Given the description of an element on the screen output the (x, y) to click on. 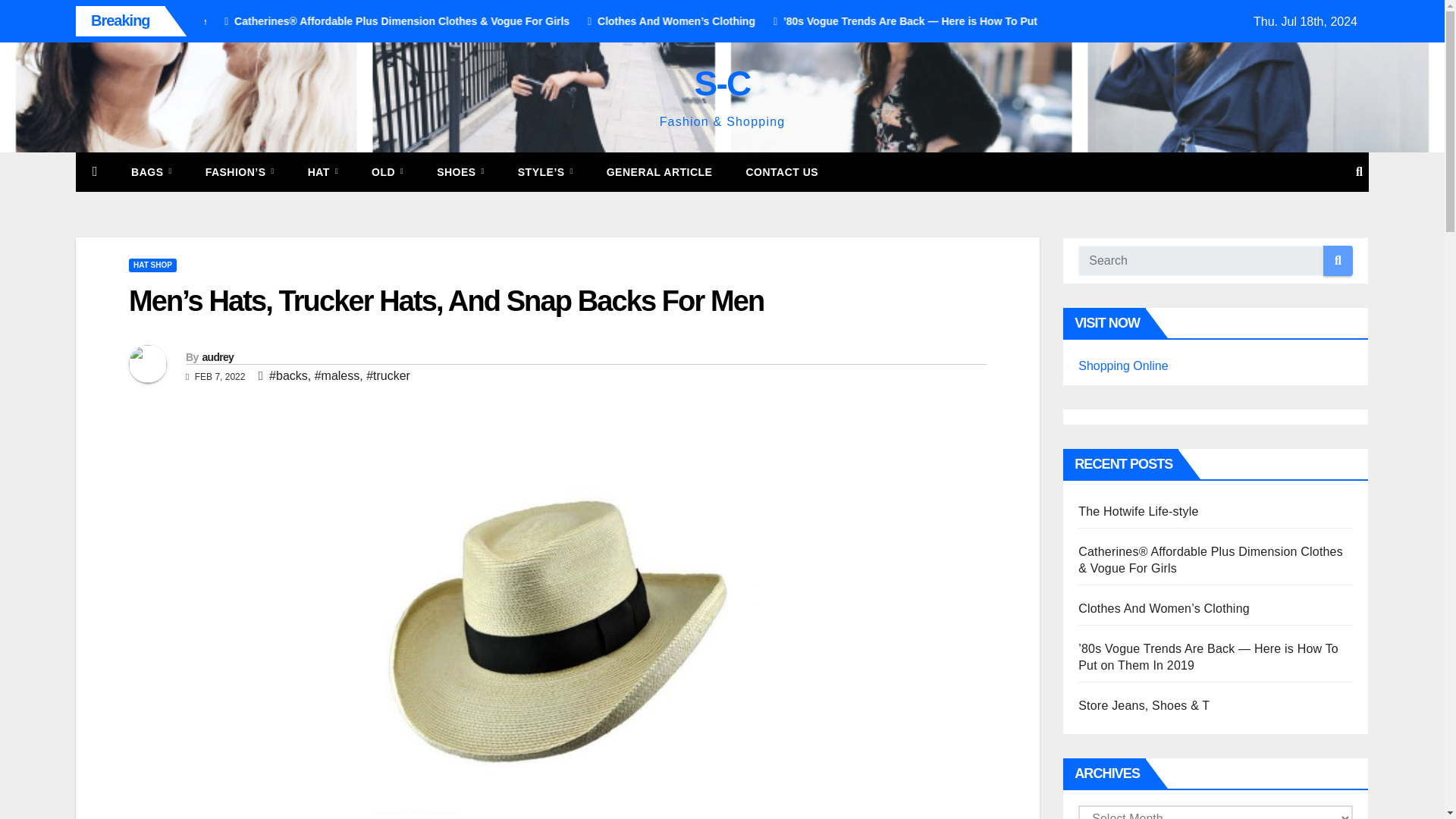
Hat (323, 171)
Shoes (460, 171)
HAT (323, 171)
Fashion's (240, 171)
OLD (387, 171)
SHOES (460, 171)
S-C (721, 83)
Old (387, 171)
Bags (152, 171)
The Hotwife Life-style (271, 21)
BAGS (152, 171)
